Given the description of an element on the screen output the (x, y) to click on. 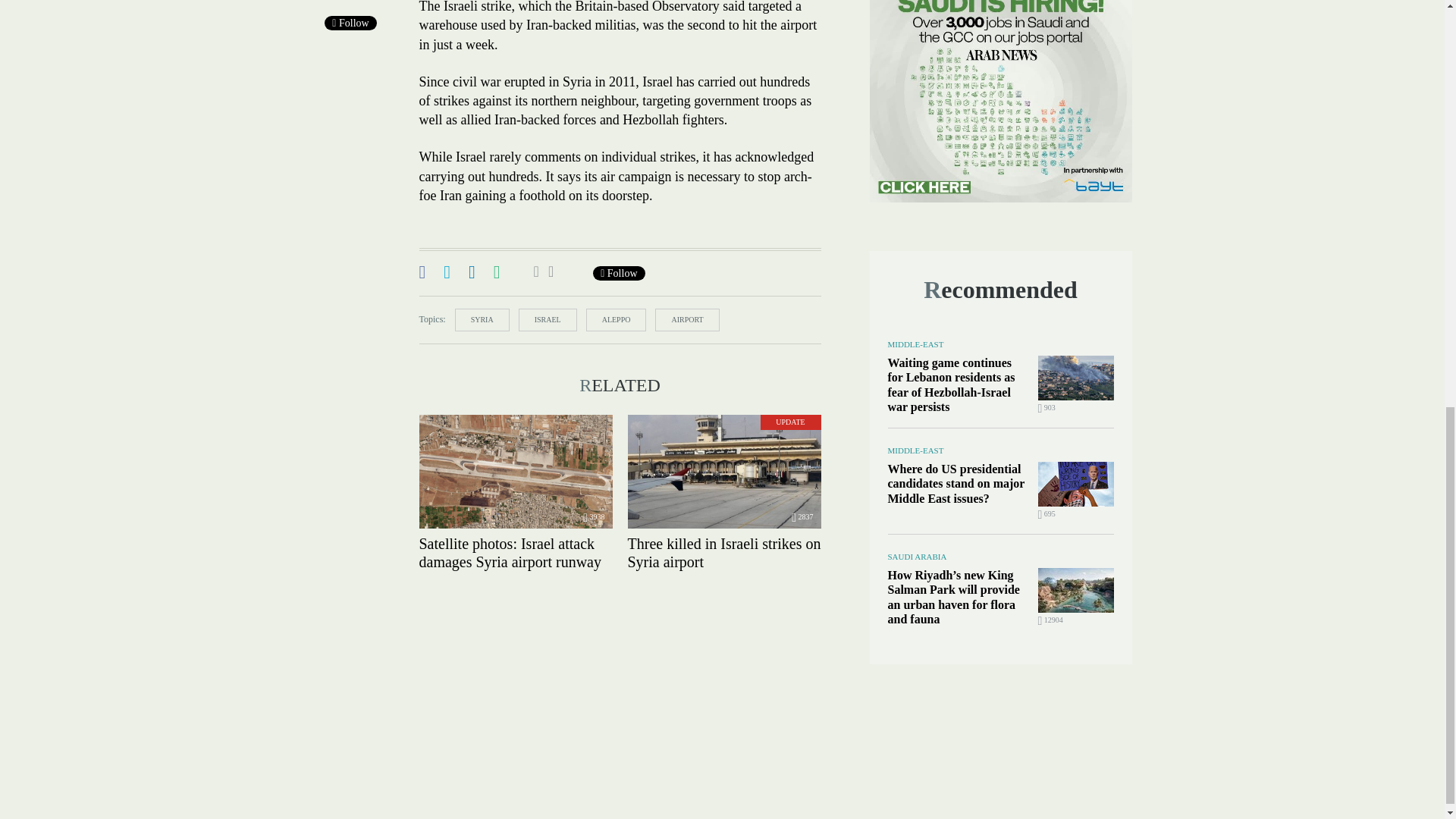
Three killed in Israeli strikes on Syria airport (724, 471)
Satellite photos: Israel attack damages Syria airport runway (515, 471)
